Given the description of an element on the screen output the (x, y) to click on. 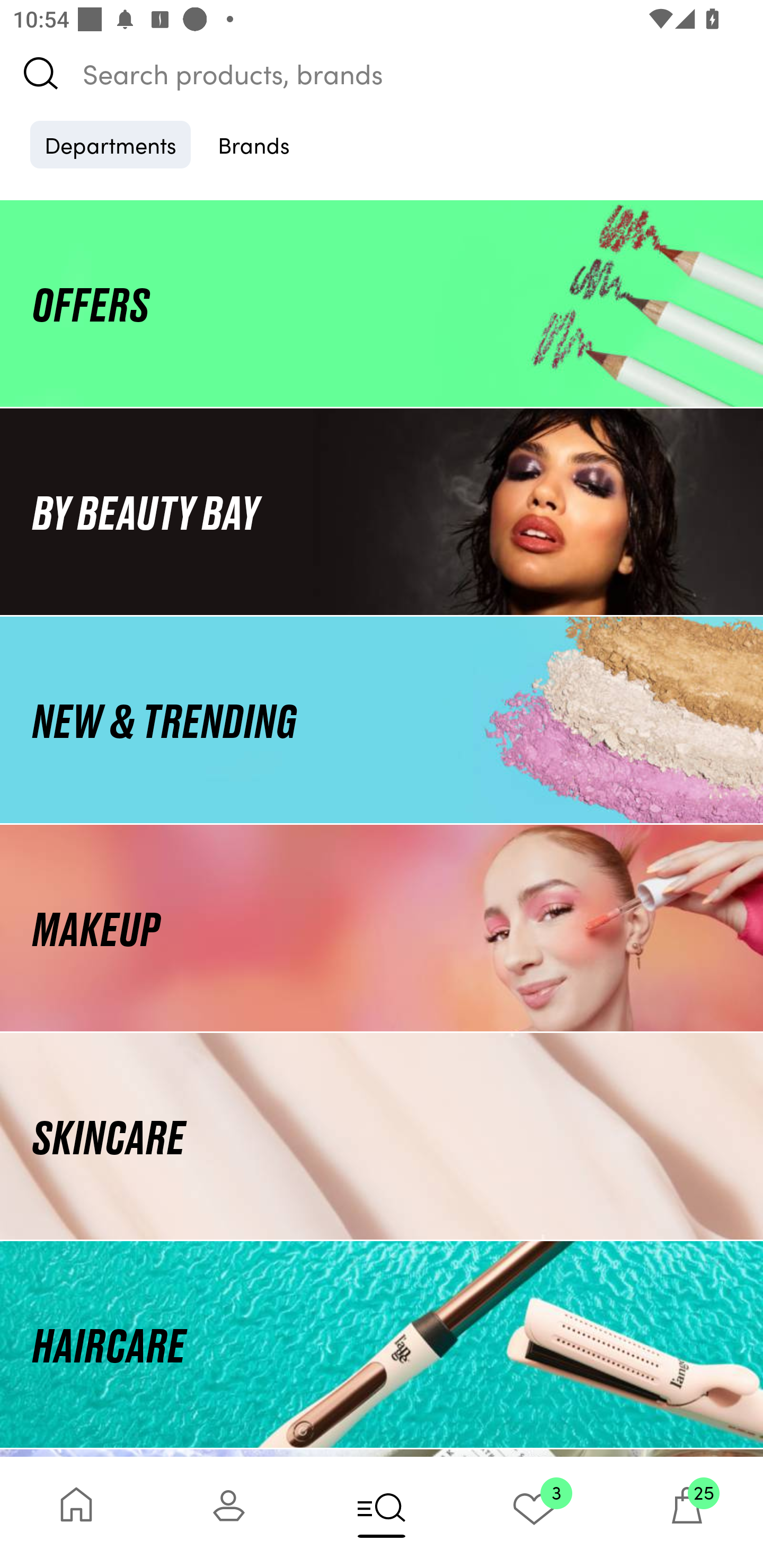
Search products, brands (381, 72)
Departments (110, 143)
Brands (253, 143)
OFFERS (381, 303)
BY BEAUTY BAY (381, 510)
NEW & TRENDING (381, 719)
MAKEUP (381, 927)
SKINCARE (381, 1136)
HAIRCARE (381, 1344)
3 (533, 1512)
25 (686, 1512)
